Given the description of an element on the screen output the (x, y) to click on. 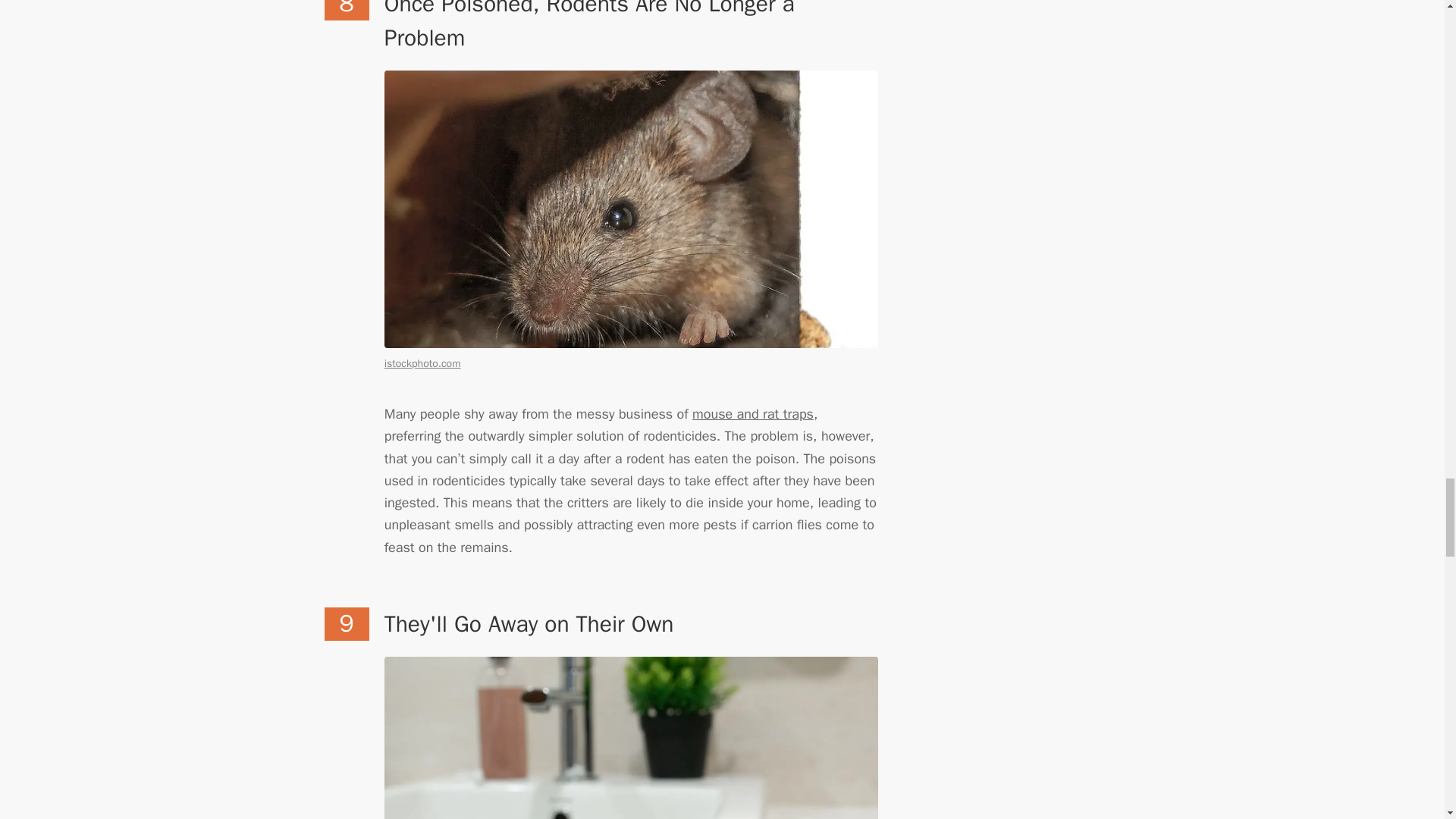
istockphoto.com (422, 363)
How to Get Rid of Mice for Good in 14 Steps (753, 413)
